Given the description of an element on the screen output the (x, y) to click on. 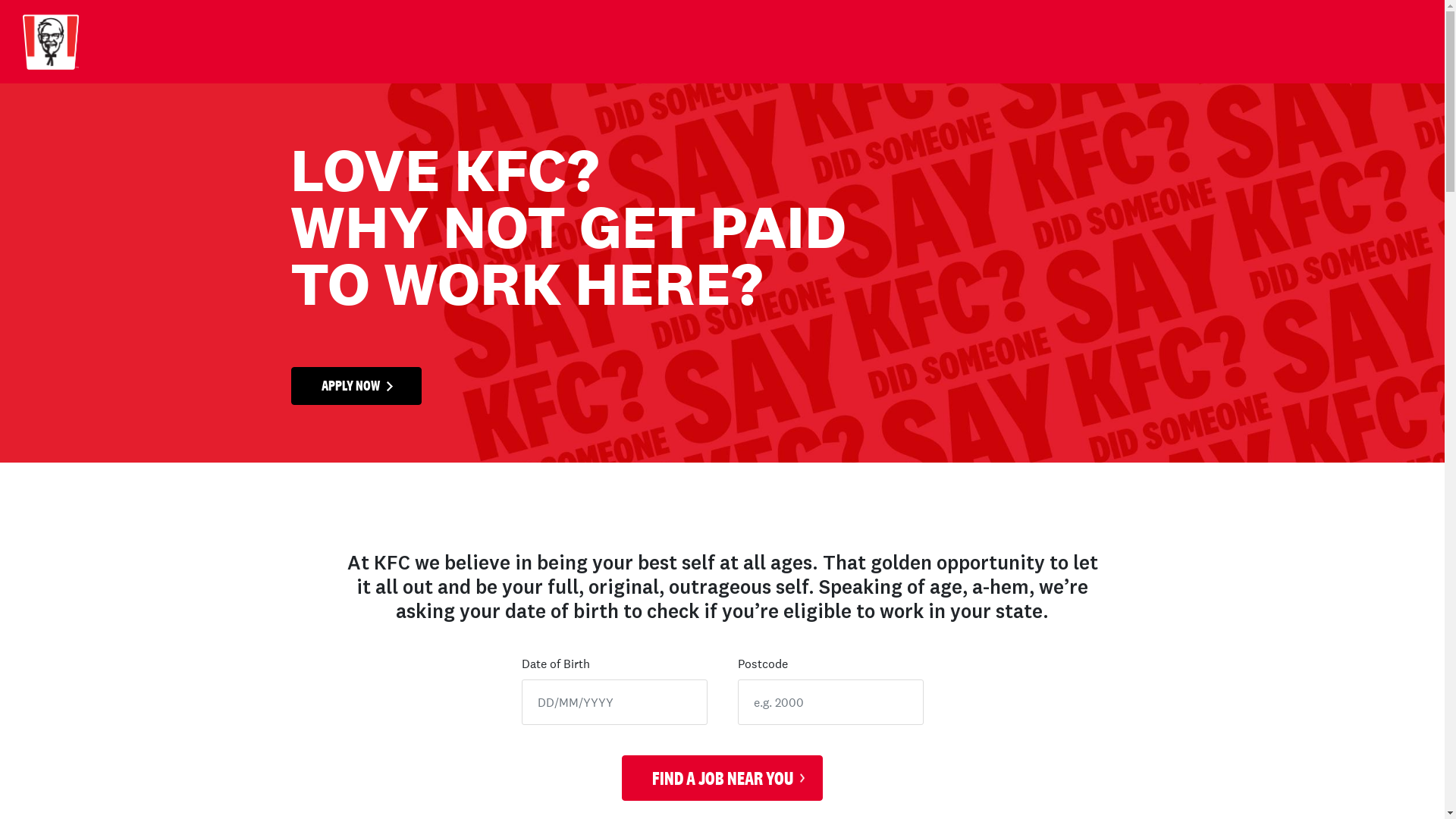
APPLY NOW Element type: text (356, 385)
KFC Careers Element type: hover (115, 40)
Find a job near you Element type: text (721, 777)
Skip to main content Element type: text (0, 0)
